Given the description of an element on the screen output the (x, y) to click on. 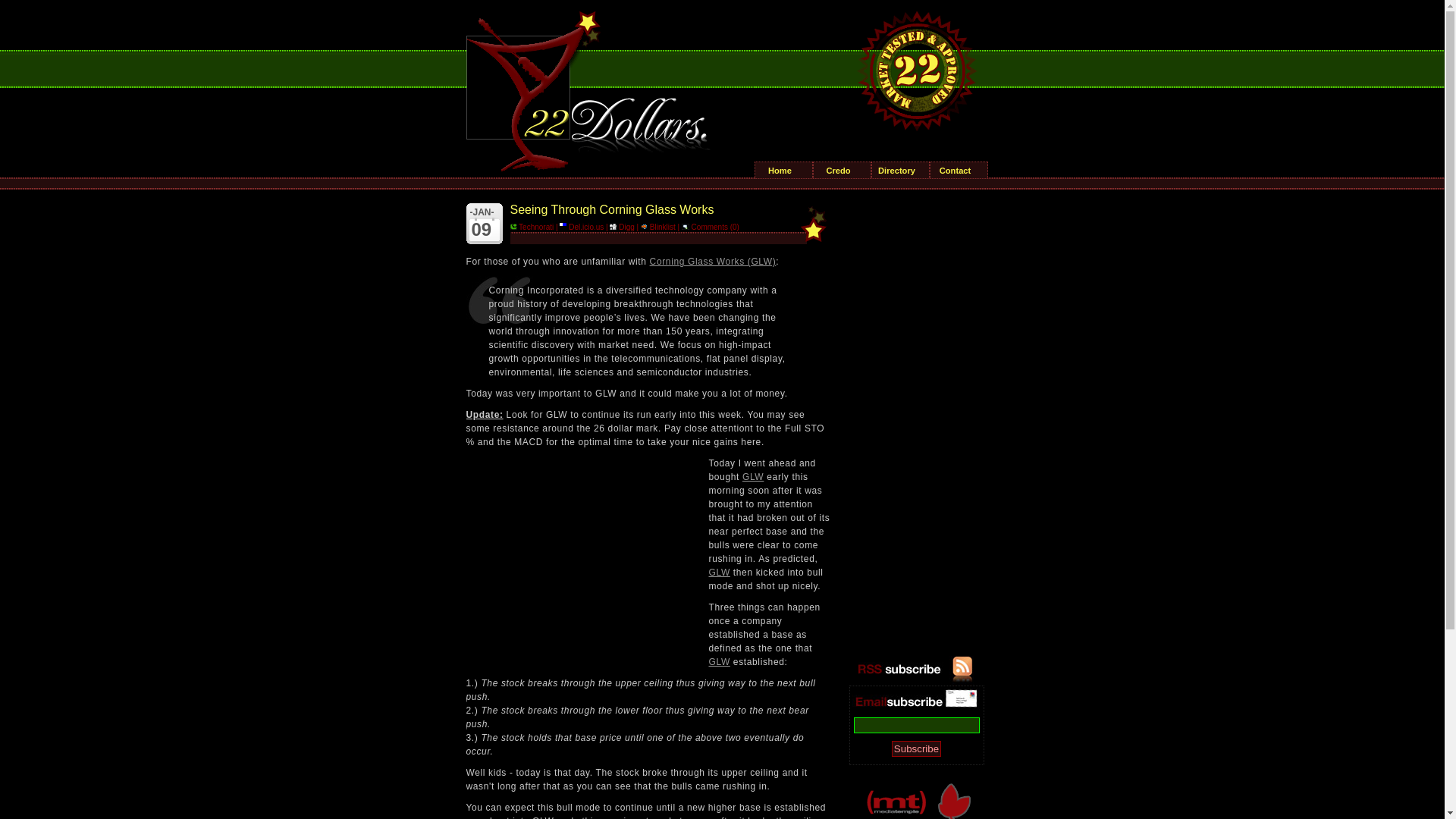
Digg Element type: text (621, 226)
Home Element type: text (783, 170)
Advertisement Element type: hover (915, 427)
GLW Element type: text (718, 661)
Directory Element type: text (900, 170)
Corning Glass Works (GLW) Element type: text (712, 261)
Del.icio.us Element type: text (581, 226)
Blinklist Element type: text (657, 226)
Technorati Element type: text (531, 226)
Subscribe Element type: text (916, 748)
GLW Element type: text (718, 572)
Advertisement Element type: hover (579, 551)
Seeing Through Corning Glass Works Element type: text (611, 209)
GLW Element type: text (752, 476)
Comments (0) Element type: text (710, 226)
Contact Element type: text (957, 170)
Credo Element type: text (840, 170)
